Given the description of an element on the screen output the (x, y) to click on. 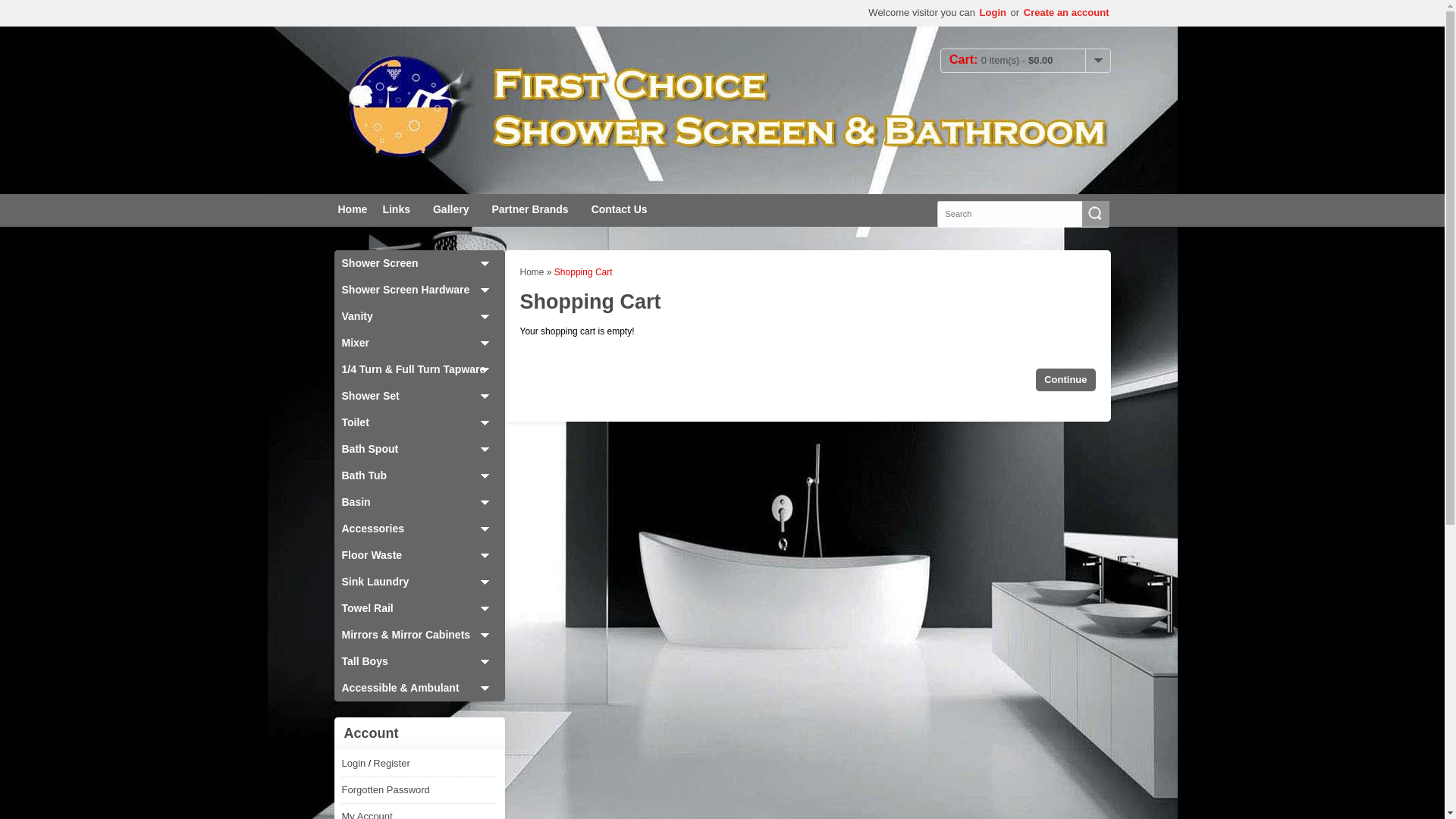
Tall Boys Element type: text (418, 661)
Basin Element type: text (418, 502)
Register Element type: text (391, 763)
Contact Us Element type: text (619, 210)
Create an account Element type: text (1066, 12)
Partner Brands Element type: text (529, 210)
Sink Laundry Element type: text (418, 581)
Mixer Element type: text (418, 342)
Vanity Element type: text (418, 316)
Bath Tub Element type: text (418, 475)
Shopping Cart Element type: text (583, 271)
Accessible & Ambulant Element type: text (418, 687)
Shower Screen Hardware Element type: text (418, 289)
Toilet Element type: text (418, 422)
Shower Set Element type: text (418, 395)
Continue Element type: text (1065, 379)
Login Element type: text (992, 12)
1/4 Turn & Full Turn Tapware Element type: text (418, 369)
Login Element type: text (353, 763)
Towel Rail Element type: text (418, 608)
Bath Spout Element type: text (418, 449)
Floor Waste Element type: text (418, 555)
Shower Screen Element type: text (418, 263)
Accessories Element type: text (418, 528)
Links Element type: text (396, 210)
Home Element type: text (351, 210)
Gallery Element type: text (450, 210)
Forgotten Password Element type: text (385, 790)
Home Element type: text (532, 271)
Cart:
0 item(s) - $0.00 Element type: text (1025, 60)
Mirrors & Mirror Cabinets Element type: text (418, 634)
